Given the description of an element on the screen output the (x, y) to click on. 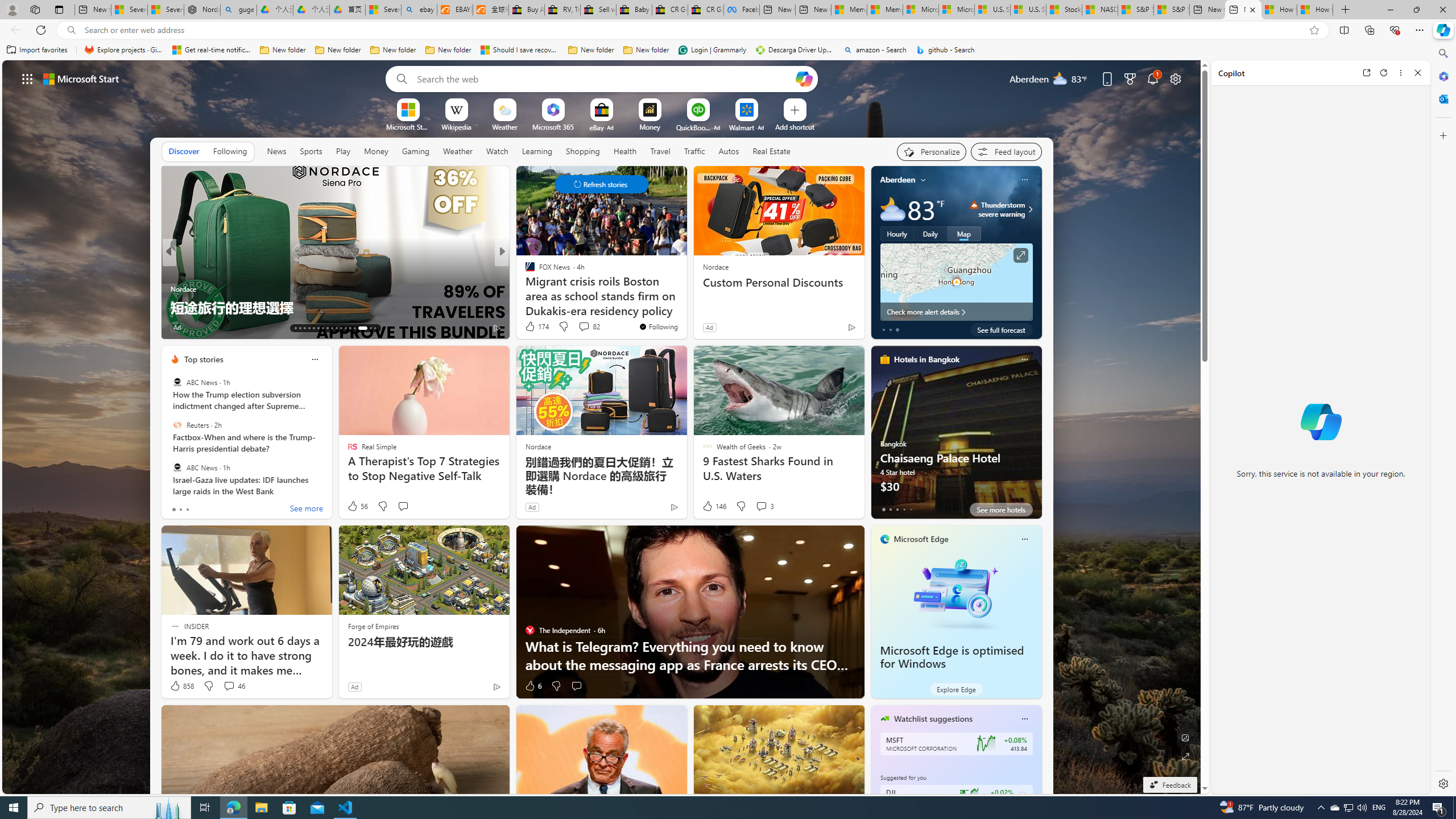
Class: follow-button  m (1021, 795)
Microsoft start (81, 78)
Travel (660, 151)
Top stories (203, 359)
Descarga Driver Updater (794, 49)
tab-4 (910, 509)
Feed settings (1005, 151)
Don't trust AI for these 4 things (335, 307)
AutomationID: tab-27 (358, 328)
Mostly cloudy (892, 208)
News (276, 151)
